Given the description of an element on the screen output the (x, y) to click on. 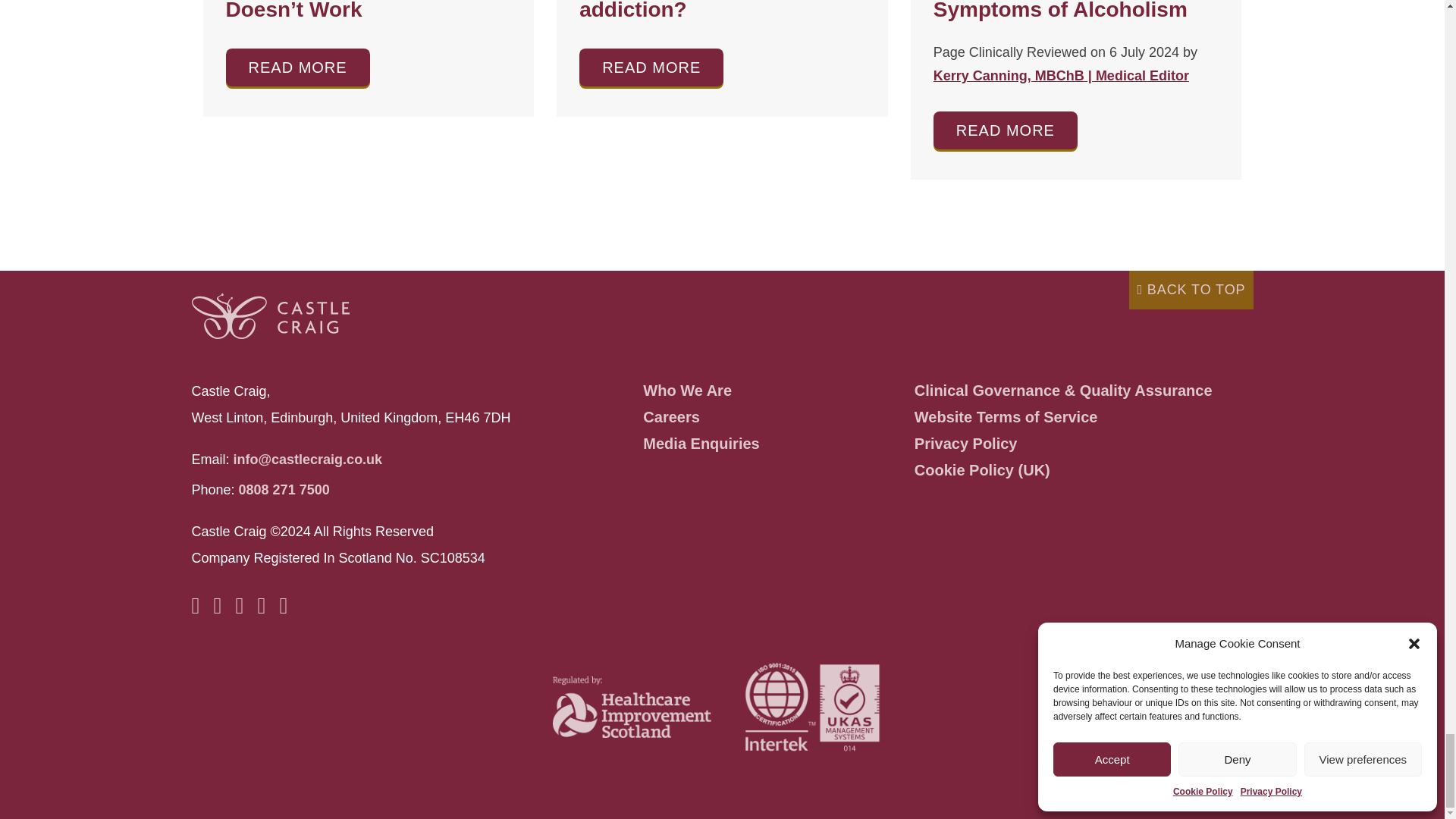
Call Castle Craig (284, 489)
Read more (1005, 130)
Read more (651, 67)
Read more (297, 67)
